Given the description of an element on the screen output the (x, y) to click on. 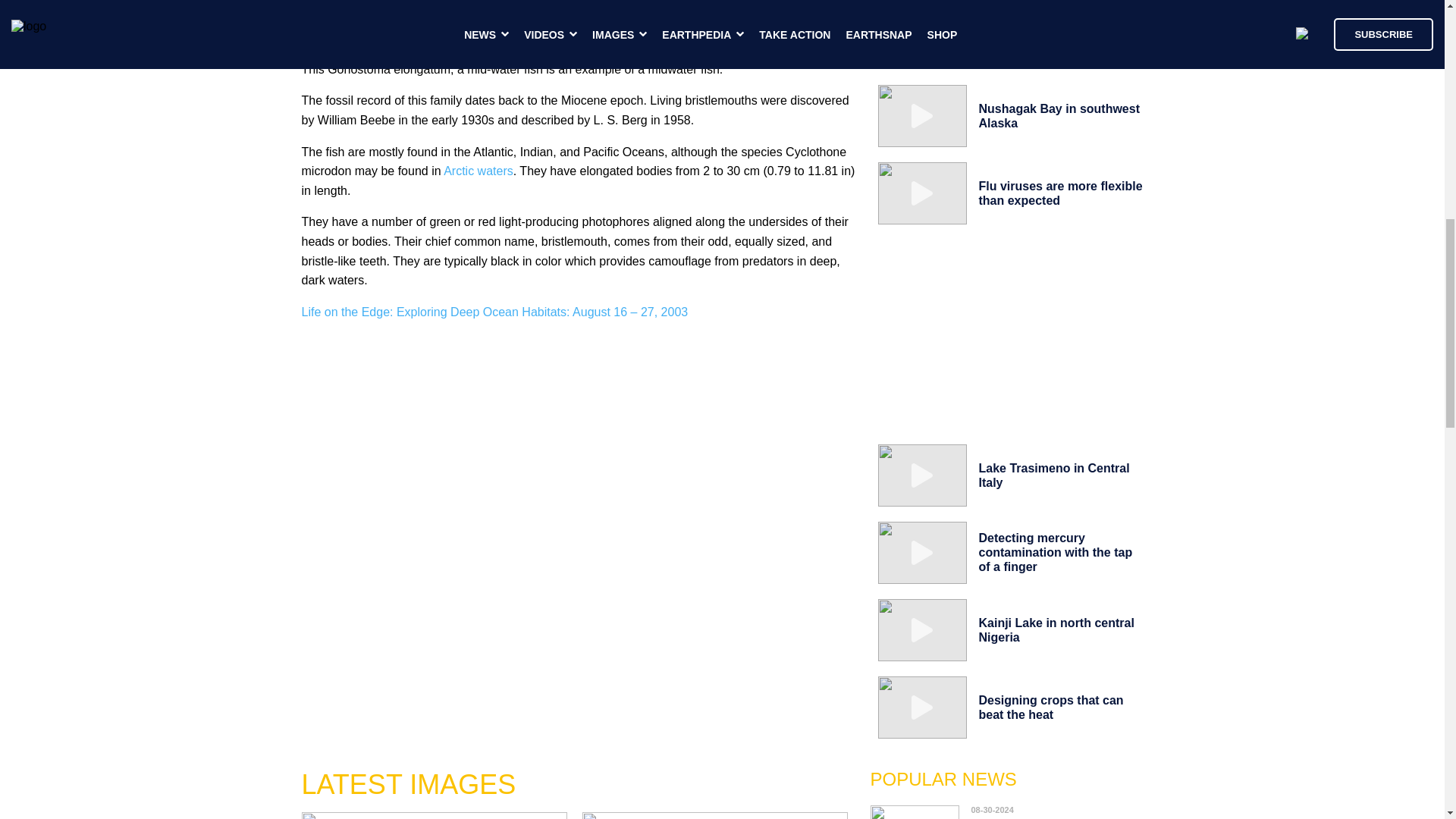
Lake Trasimeno in Central Italy (1053, 474)
Designing crops that can beat the heat (1050, 706)
Kainji Lake in north central Nigeria (1056, 628)
Nushagak Bay in southwest Alaska (1059, 114)
Flu viruses are more flexible than expected (1059, 192)
Detecting mercury contamination with the tap of a finger (1055, 552)
Arctic waters (478, 170)
